Given the description of an element on the screen output the (x, y) to click on. 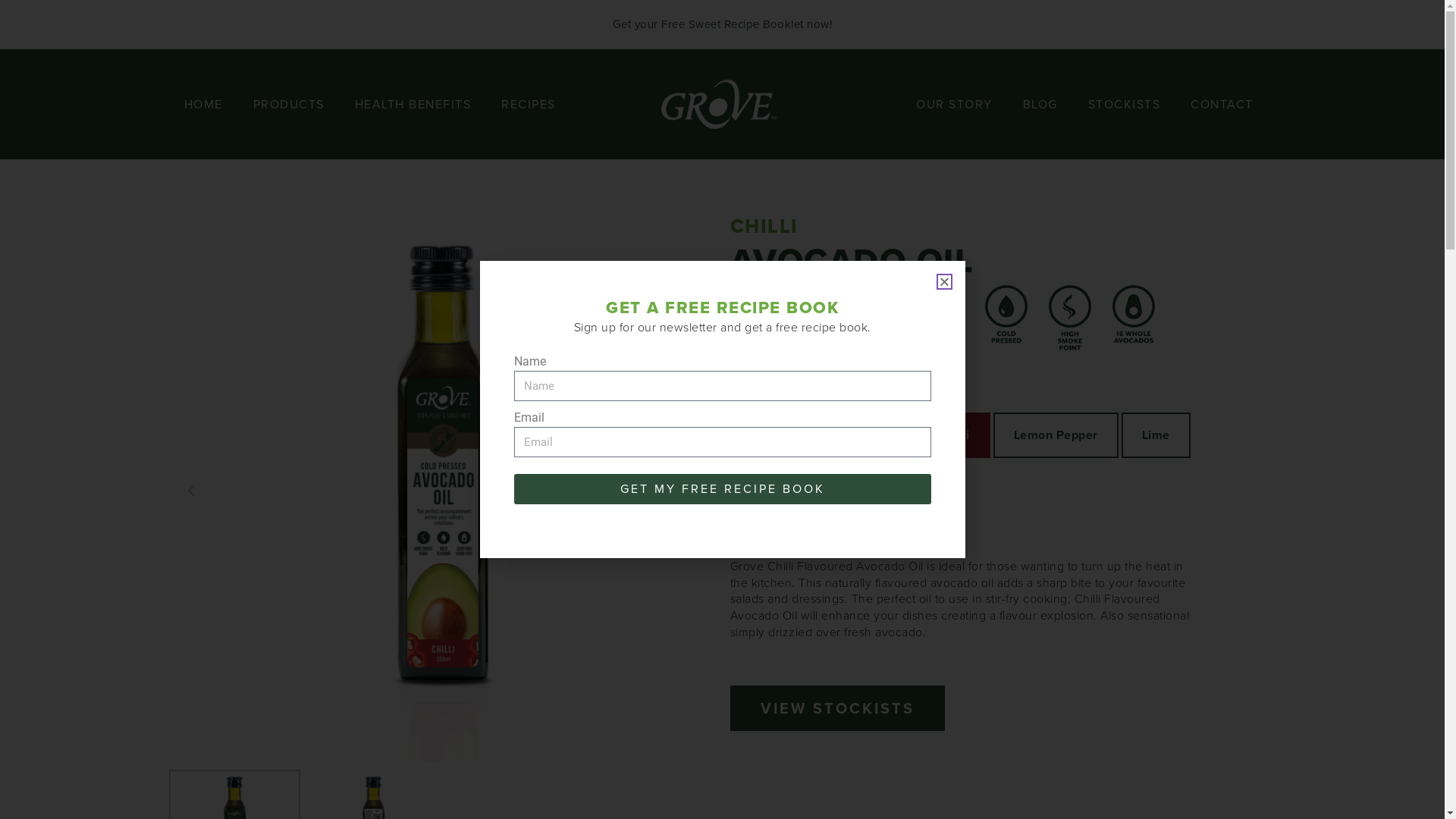
Grove-Chilli-Front Element type: hover (441, 489)
VIEW STOCKISTS Element type: text (836, 708)
STOCKISTS Element type: text (1124, 103)
PRODUCTS Element type: text (288, 103)
HEALTH BENEFITS Element type: text (412, 103)
Get your Free Sweet Recipe Booklet now! Element type: text (722, 24)
BLOG Element type: text (1040, 103)
OUR STORY Element type: text (953, 103)
RECIPES Element type: text (528, 103)
HOME Element type: text (202, 103)
CONTACT Element type: text (1221, 103)
